Given the description of an element on the screen output the (x, y) to click on. 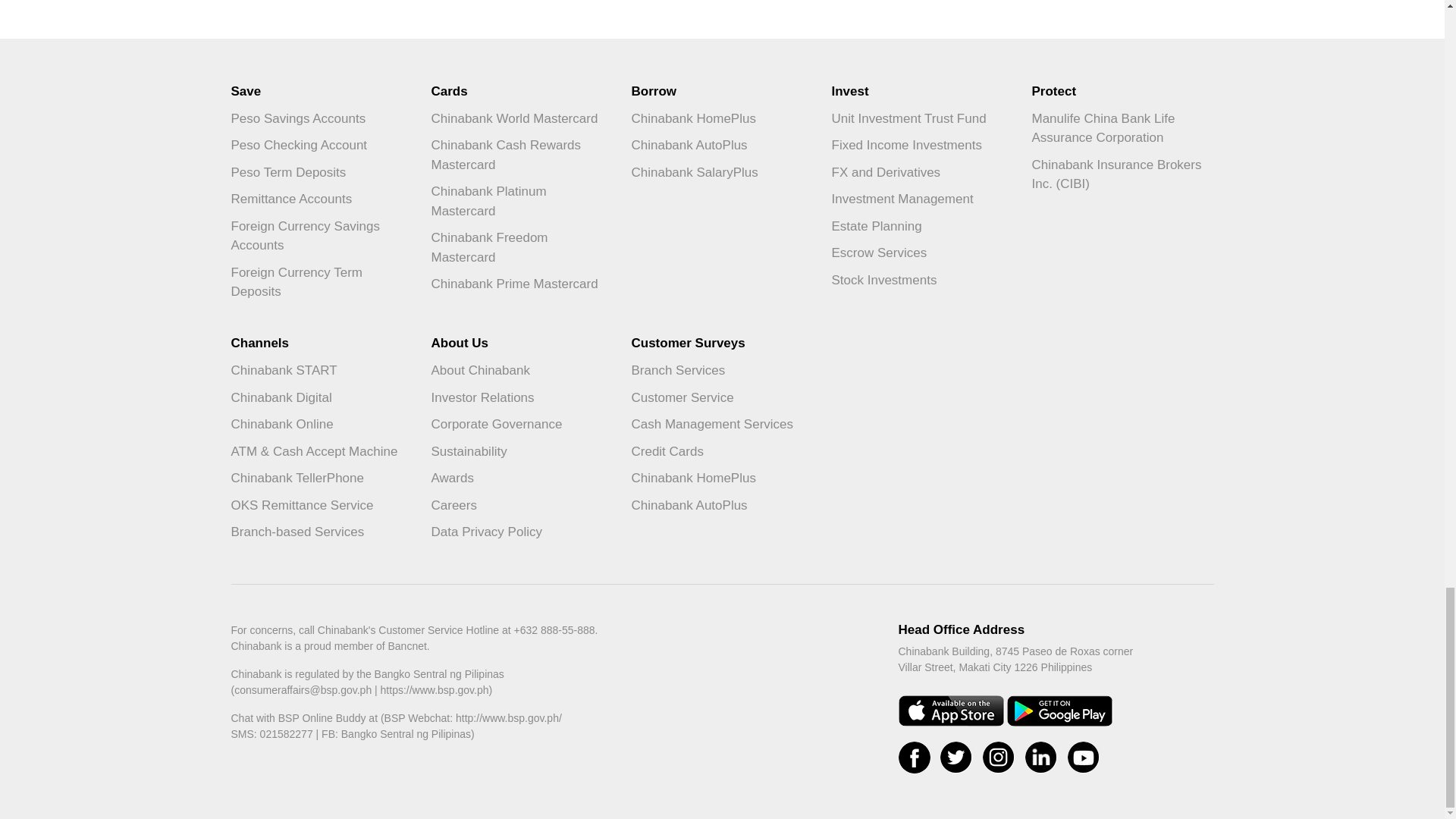
Save (321, 90)
Foreign Currency Savings Accounts (321, 235)
Peso Term Deposits (321, 172)
Remittance Accounts (321, 198)
Foreign Currency Term Deposits (321, 282)
Peso Checking Account (321, 144)
Peso Savings Accounts (321, 118)
